Given the description of an element on the screen output the (x, y) to click on. 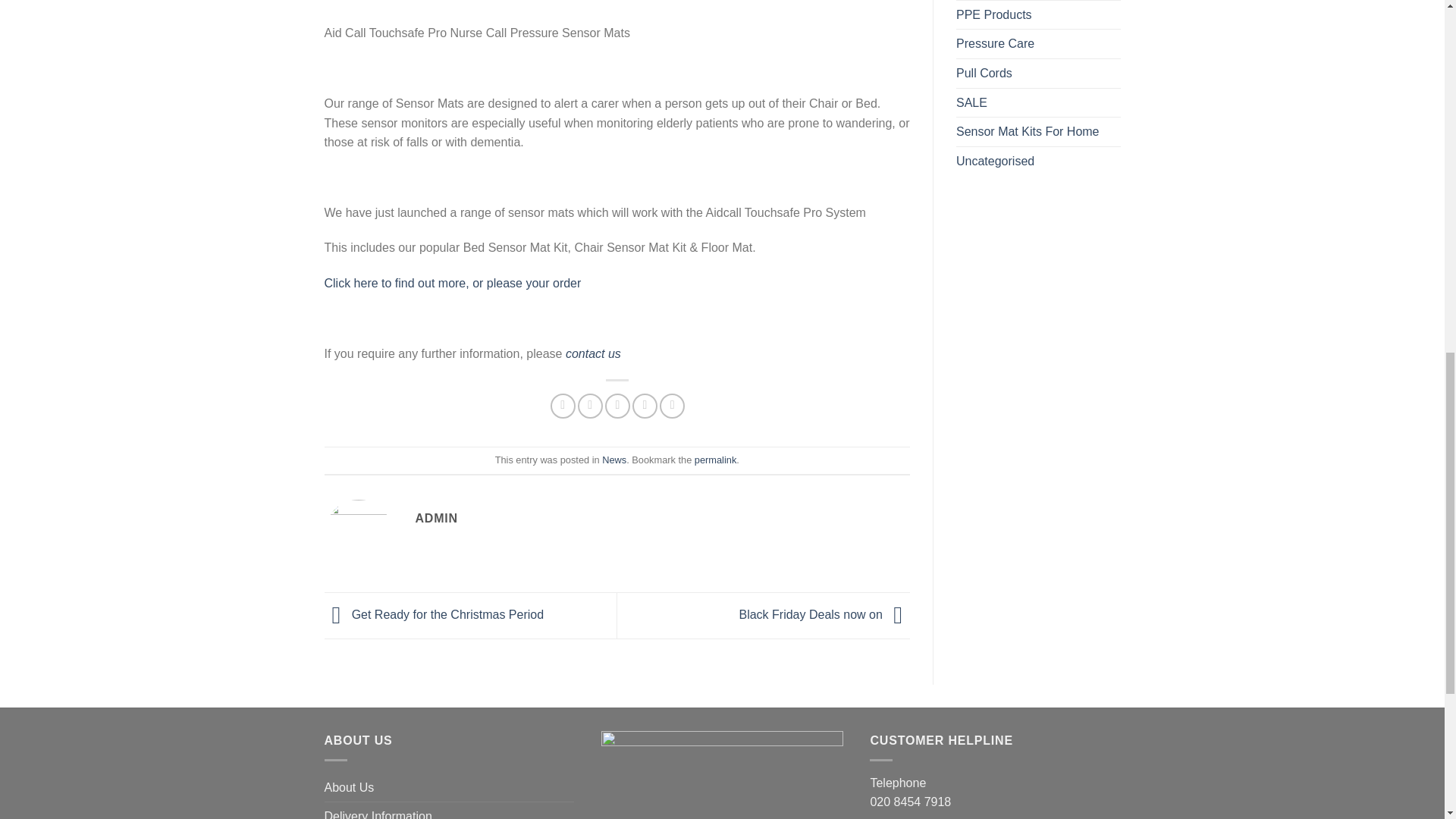
Email to a Friend (617, 405)
Share on Twitter (590, 405)
Pin on Pinterest (644, 405)
Share on Facebook (562, 405)
